Given the description of an element on the screen output the (x, y) to click on. 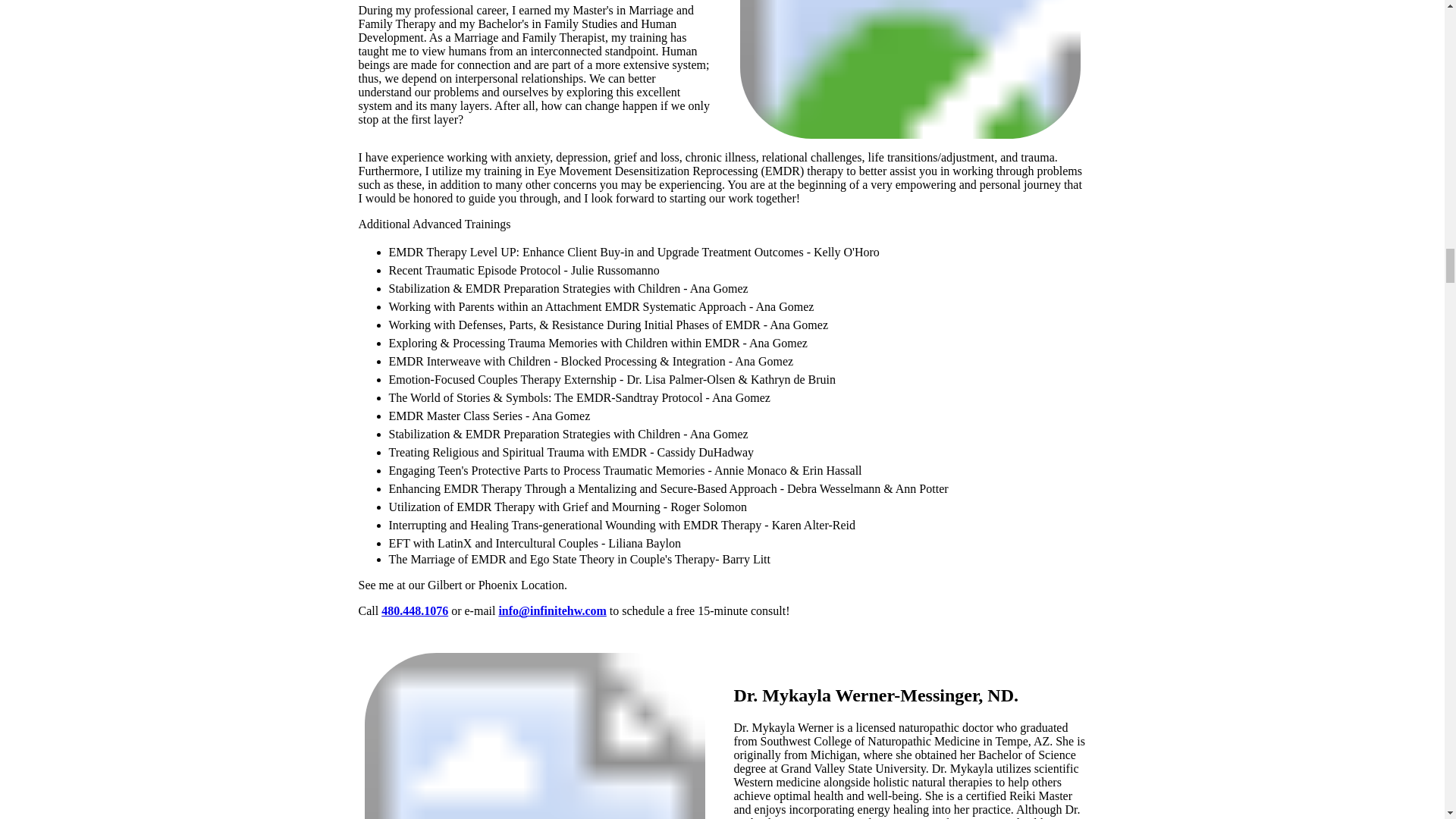
Justine Bond - Phoenix, AZ - Infinite Healing and Wellness (909, 69)
